Given the description of an element on the screen output the (x, y) to click on. 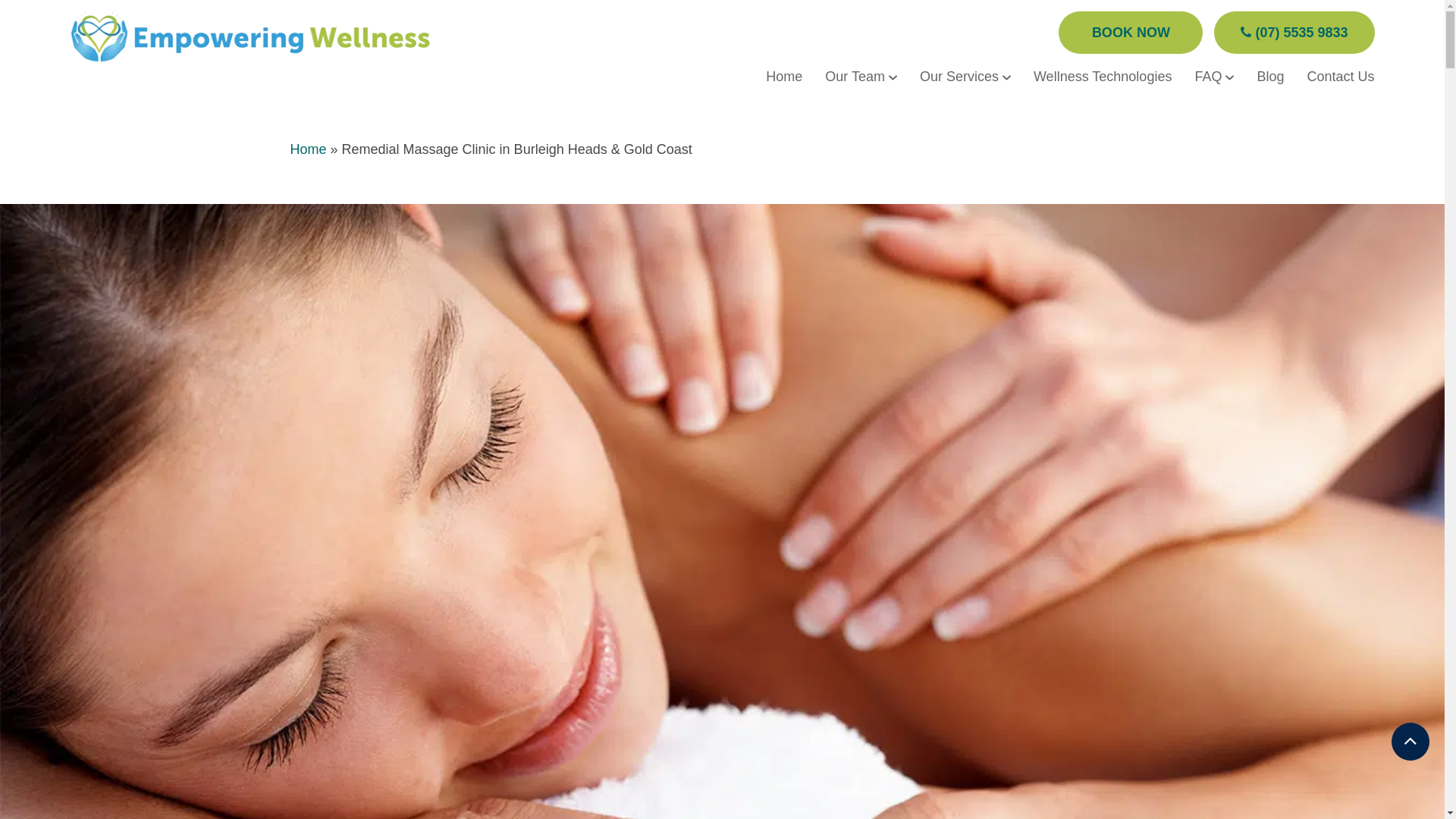
FAQ Element type: text (1213, 76)
Remedial-Massage-banner-bg Element type: hover (722, 532)
BOOK NOW Element type: text (1130, 32)
Our Team Element type: text (861, 76)
Home Element type: text (783, 76)
Blog Element type: text (1269, 76)
Contact Us Element type: text (1340, 76)
(07) 5535 9833 Element type: text (1294, 32)
Our Services Element type: text (964, 76)
Home Element type: text (307, 148)
Wellness Technologies Element type: text (1102, 76)
